Given the description of an element on the screen output the (x, y) to click on. 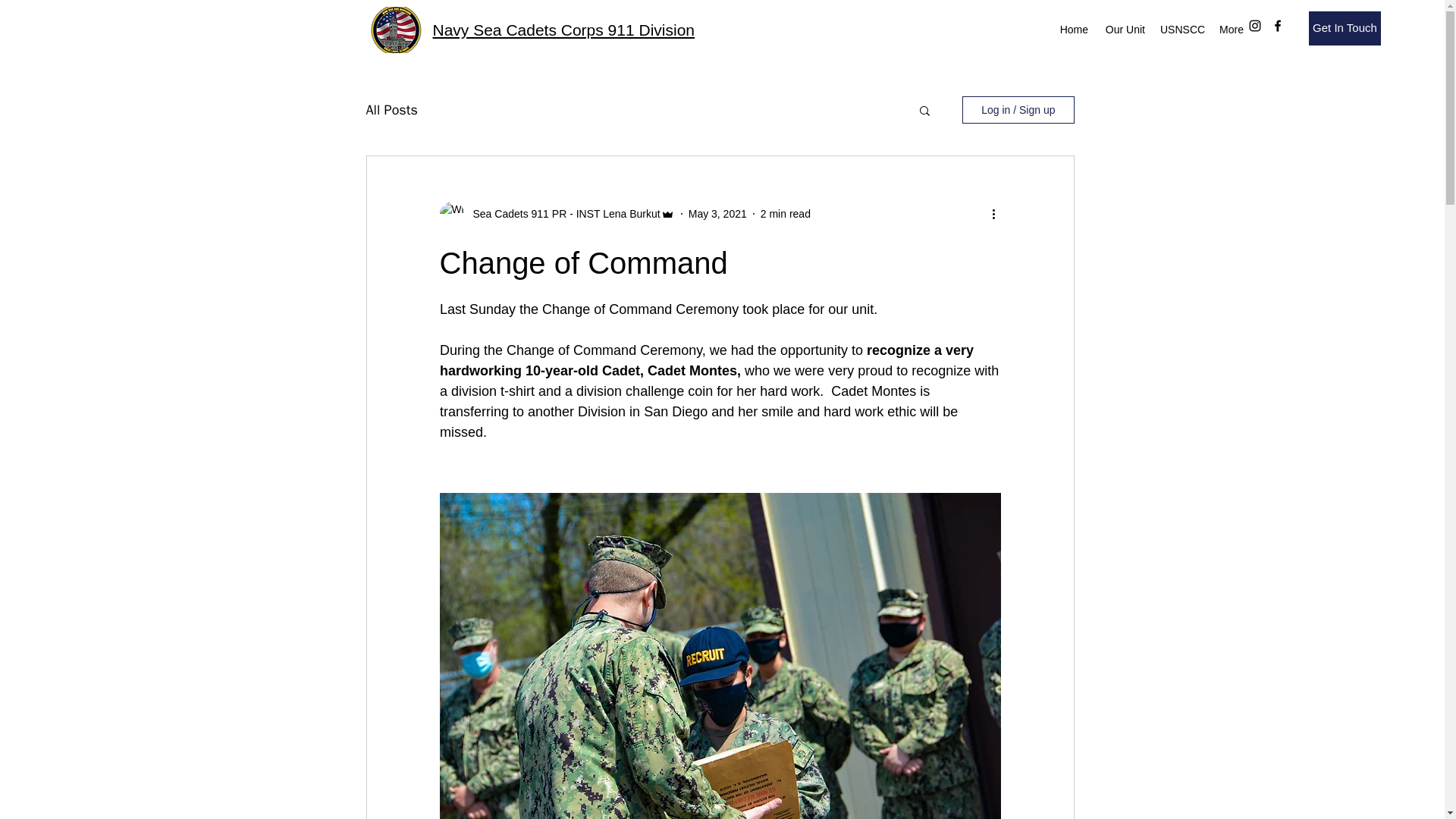
May 3, 2021 (717, 214)
2 min read (785, 214)
USNSCC (1182, 29)
Sea Cadets 911 PR - INST Lena Burkut (562, 213)
Navy Sea Cadets Corps 911 Division (563, 29)
All Posts (390, 109)
Get In Touch (1344, 28)
Home (1073, 29)
Our Unit (1124, 29)
